Given the description of an element on the screen output the (x, y) to click on. 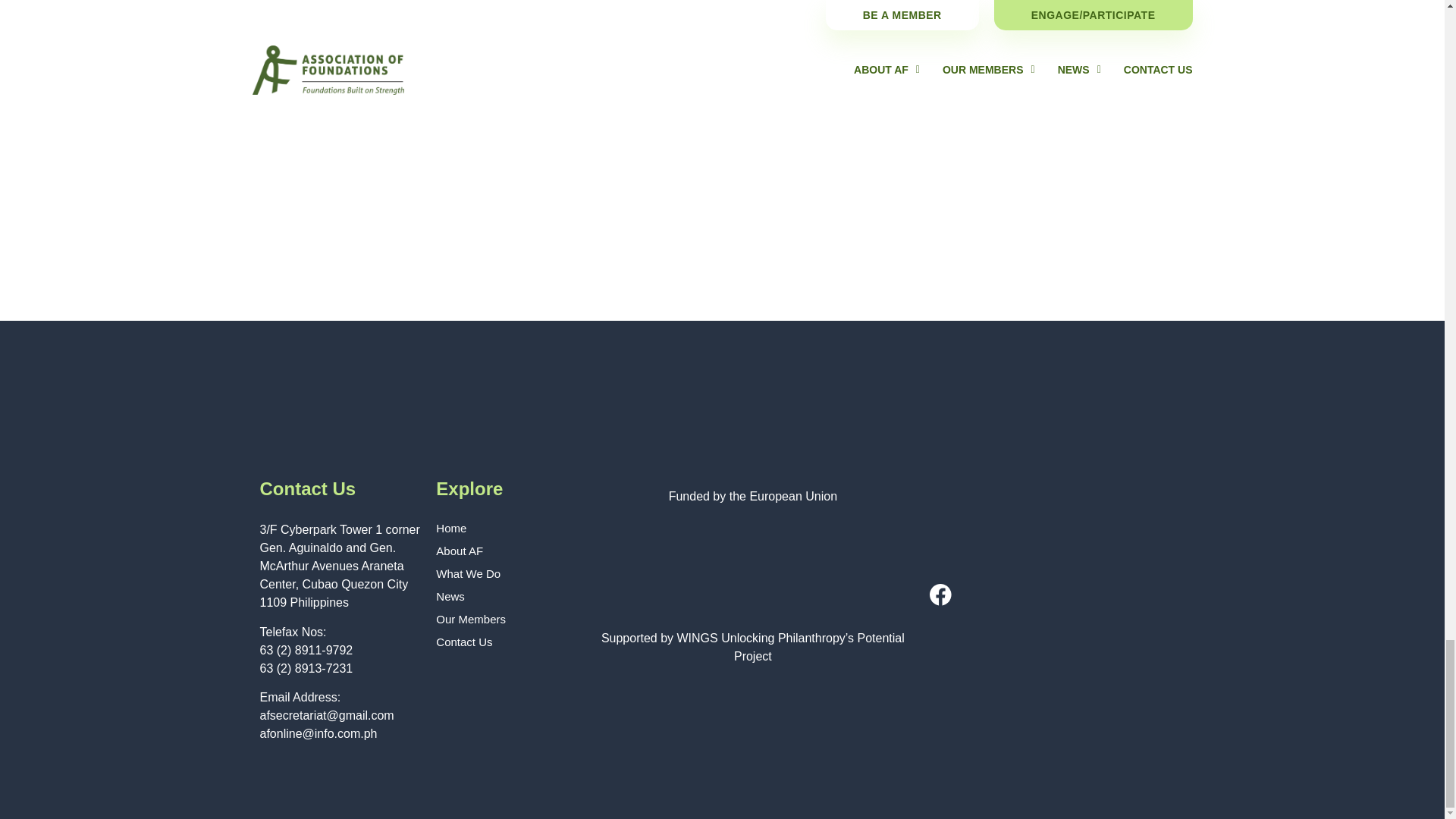
Home (505, 528)
Our Members (505, 619)
News (505, 596)
About AF (505, 550)
What We Do (505, 573)
